Given the description of an element on the screen output the (x, y) to click on. 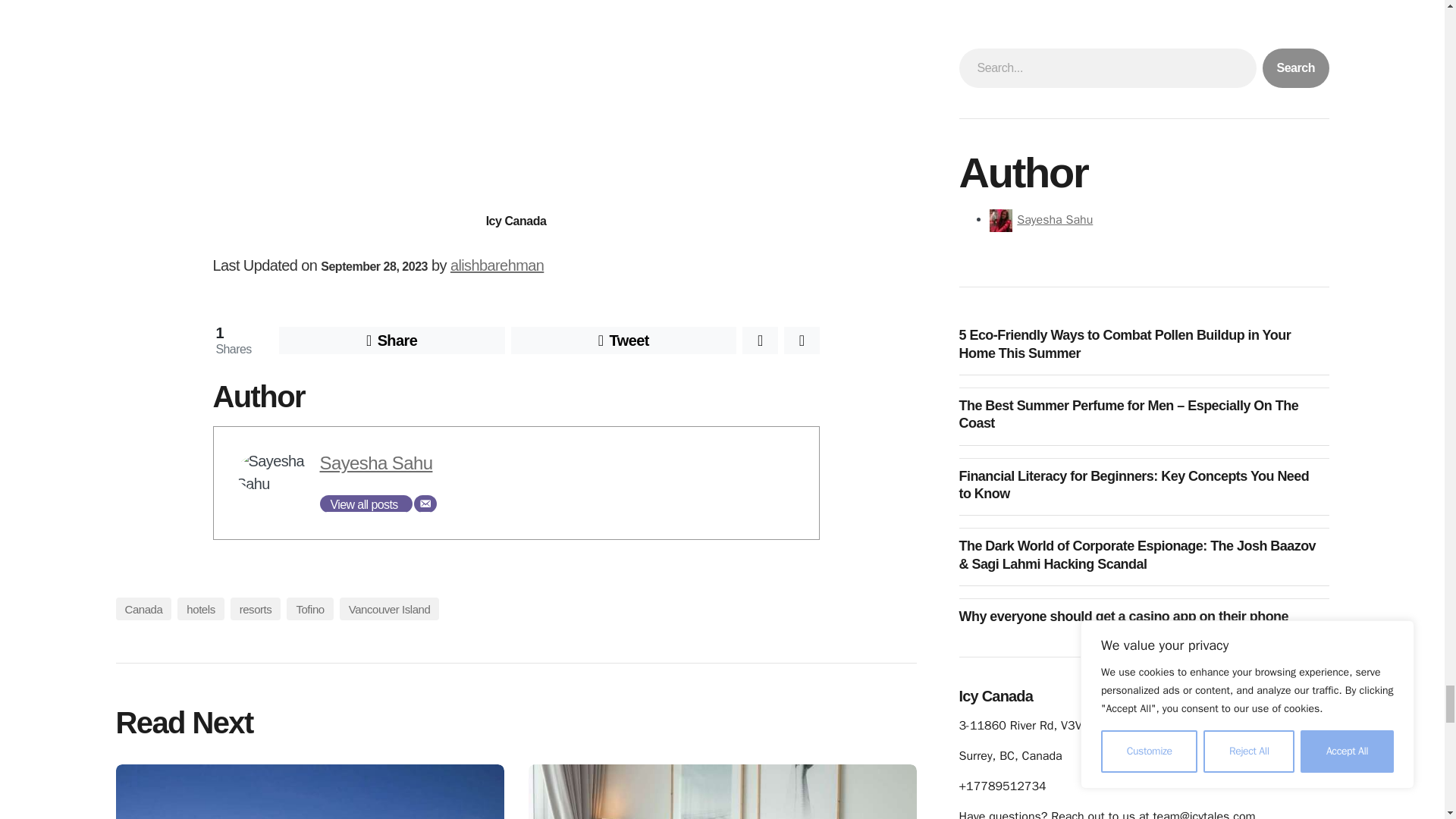
What To Do In Vancouver: Tourist Guide Highlights (309, 791)
View all posts (366, 503)
Sayesha Sahu (376, 462)
Best Buys at Ikea Ottawa: Top 5 Products (721, 791)
